Given the description of an element on the screen output the (x, y) to click on. 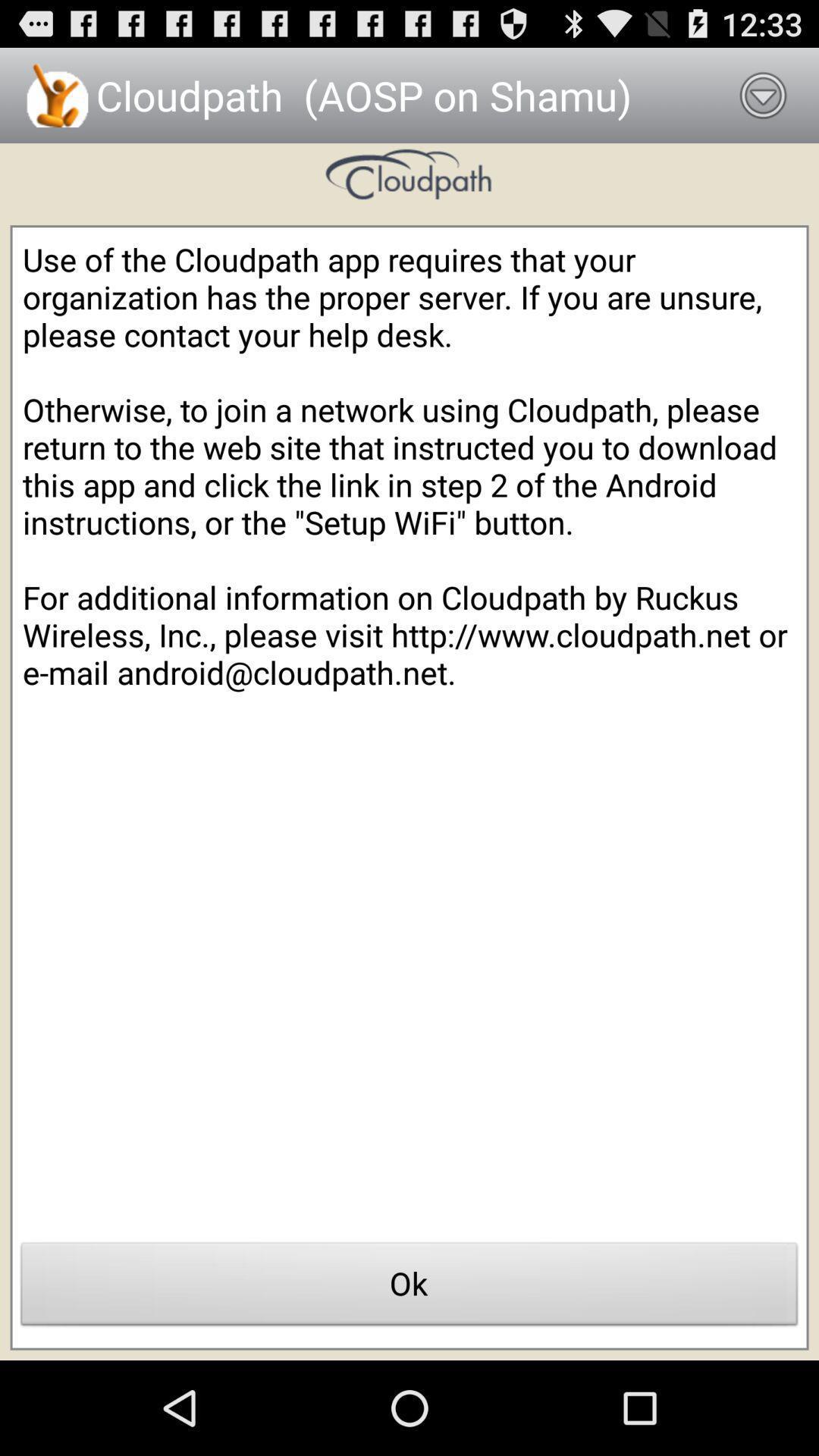
open the icon to the right of cloudpath aosp on item (763, 95)
